Given the description of an element on the screen output the (x, y) to click on. 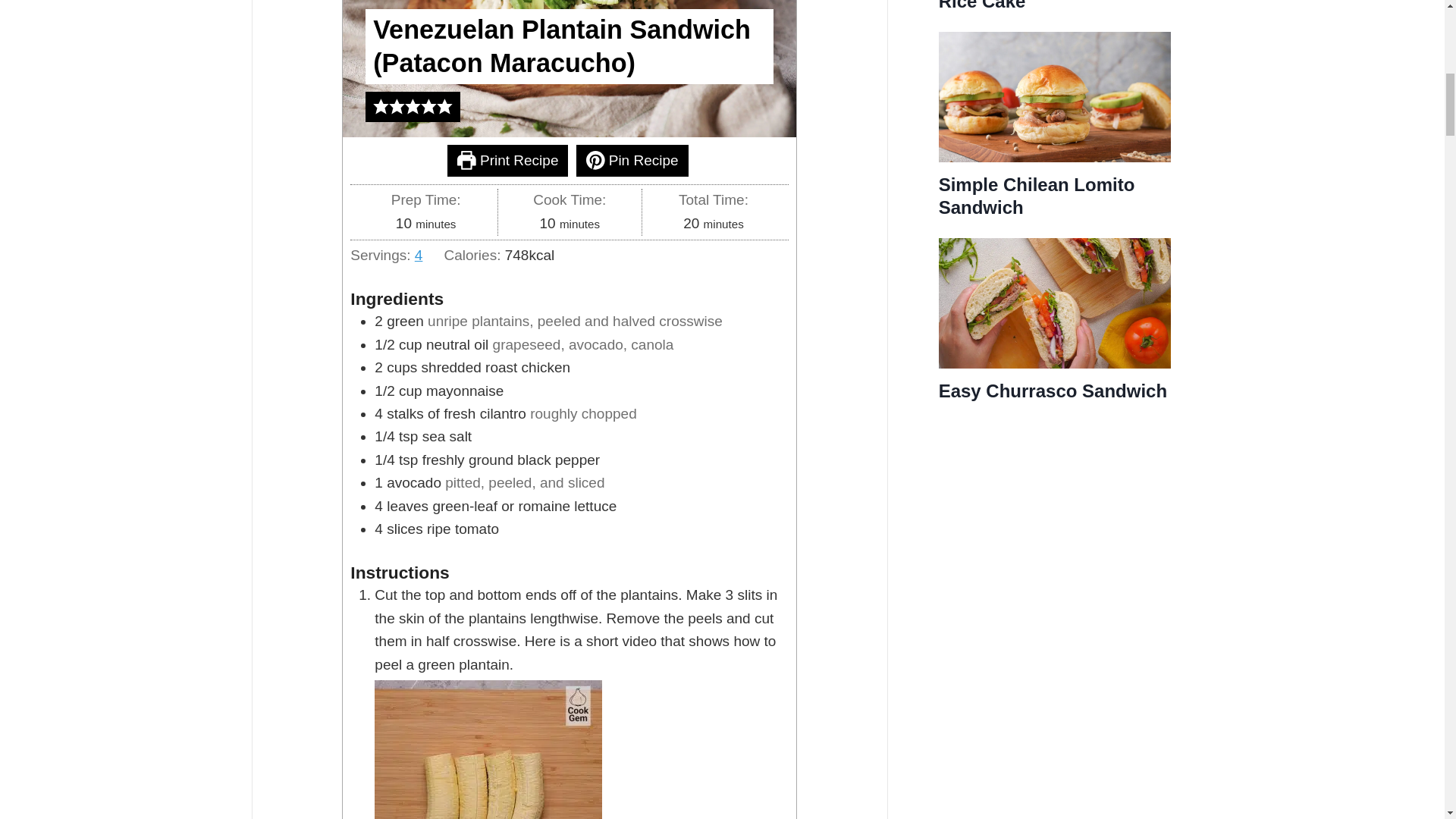
Pin Recipe (632, 160)
Print Recipe (506, 160)
